Given the description of an element on the screen output the (x, y) to click on. 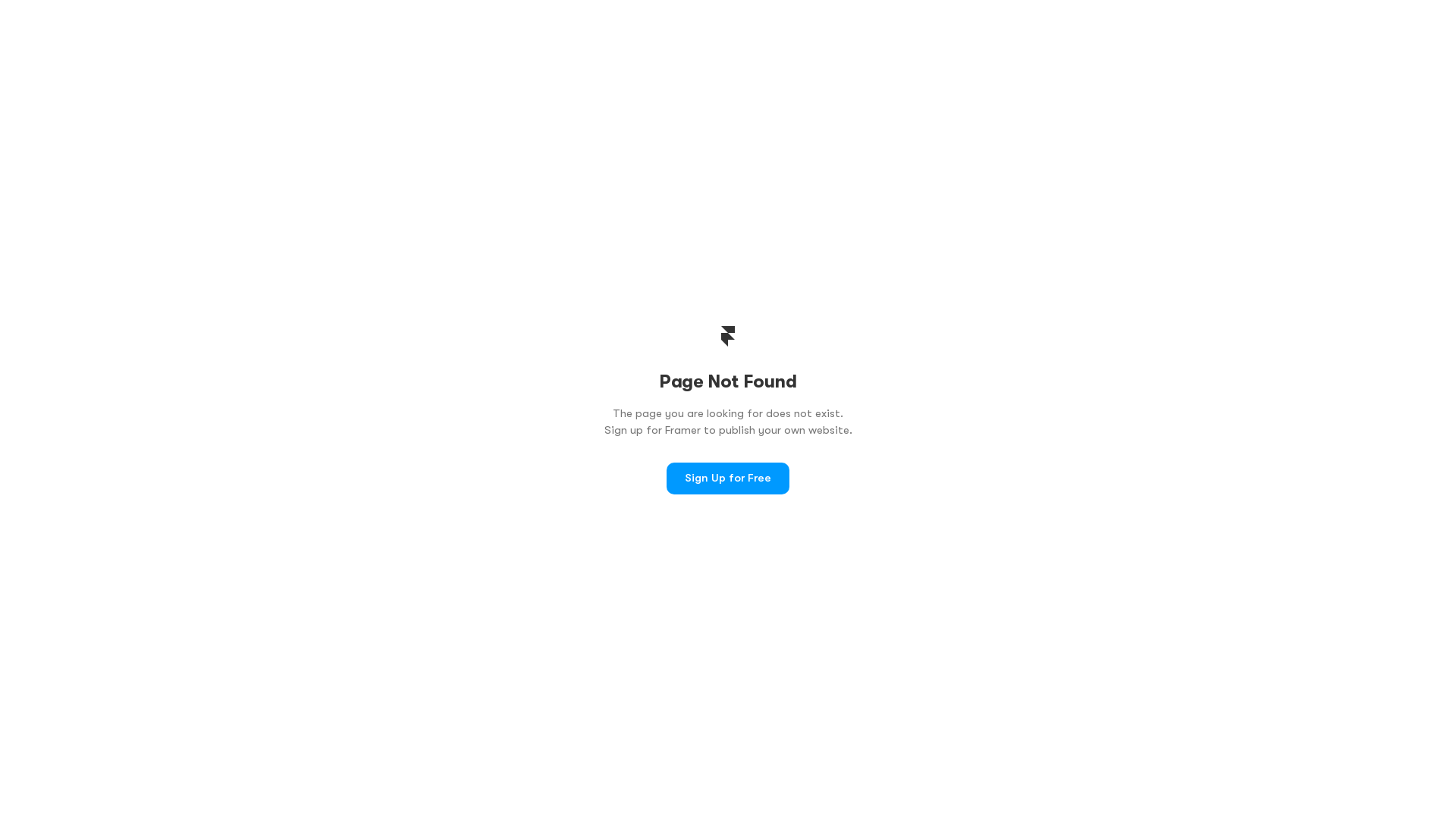
Sign Up for Free Element type: text (727, 478)
